Given the description of an element on the screen output the (x, y) to click on. 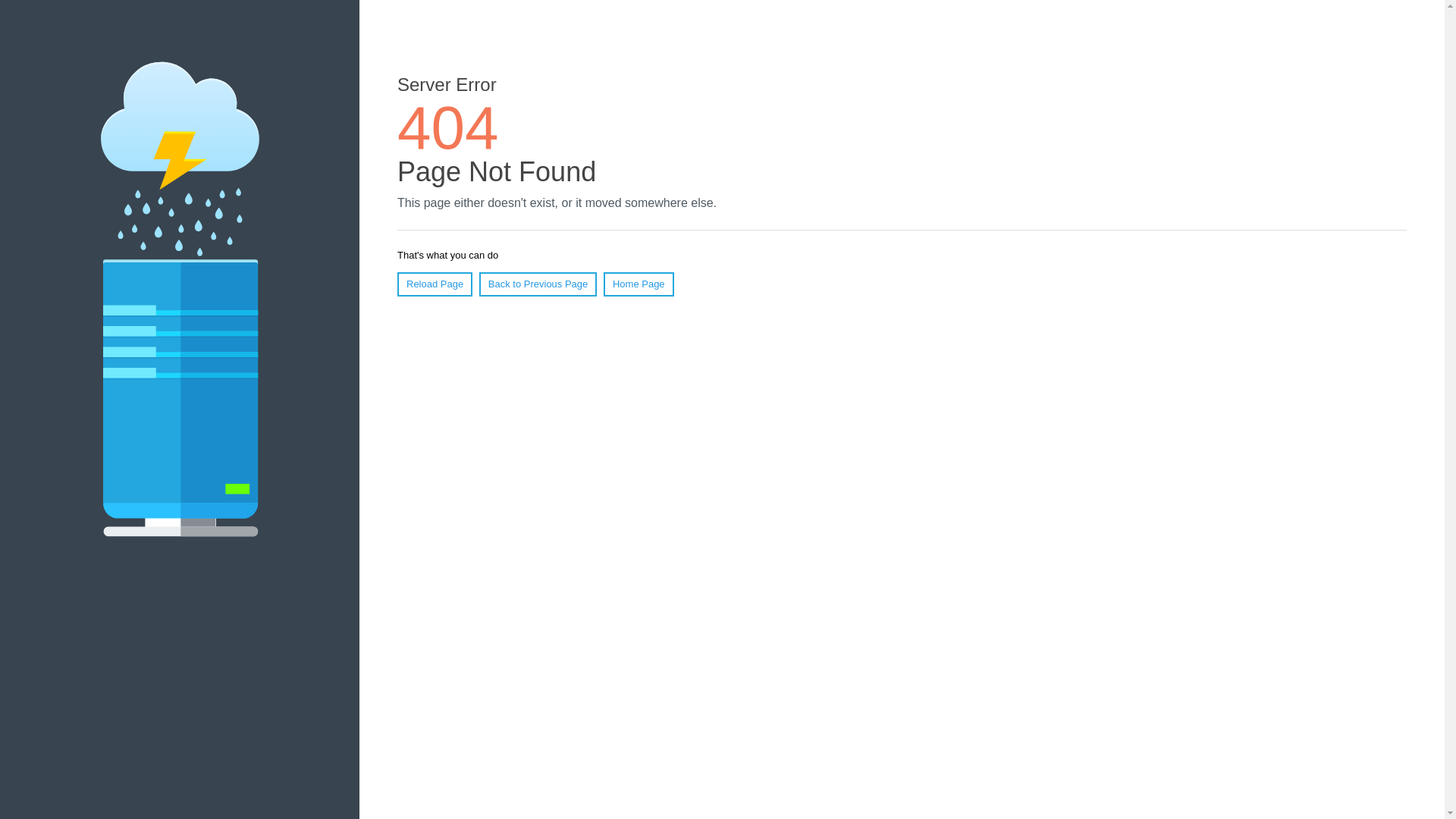
Home Page Element type: text (638, 284)
Back to Previous Page Element type: text (538, 284)
Reload Page Element type: text (434, 284)
